Given the description of an element on the screen output the (x, y) to click on. 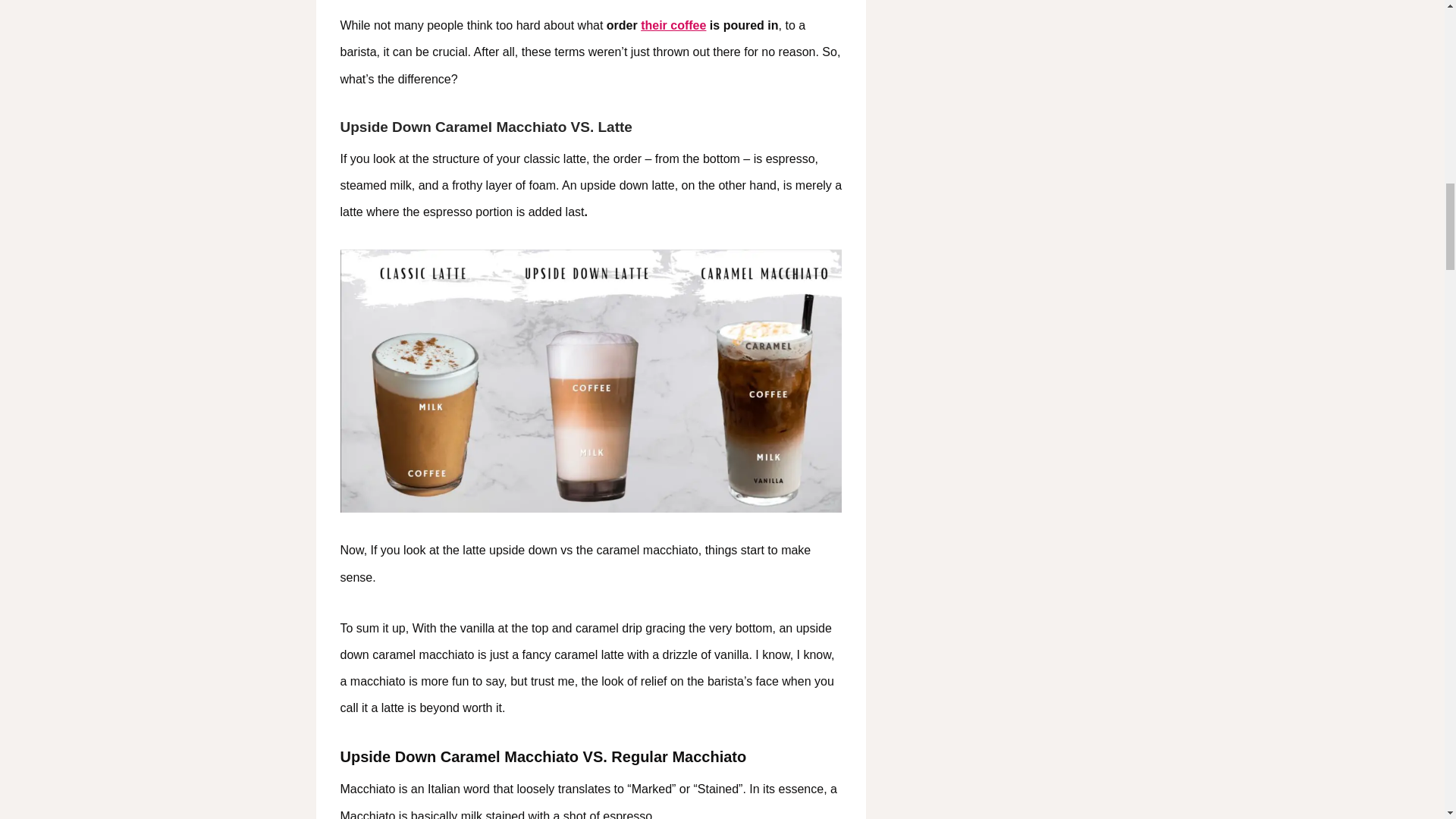
their coffee (673, 24)
